Given the description of an element on the screen output the (x, y) to click on. 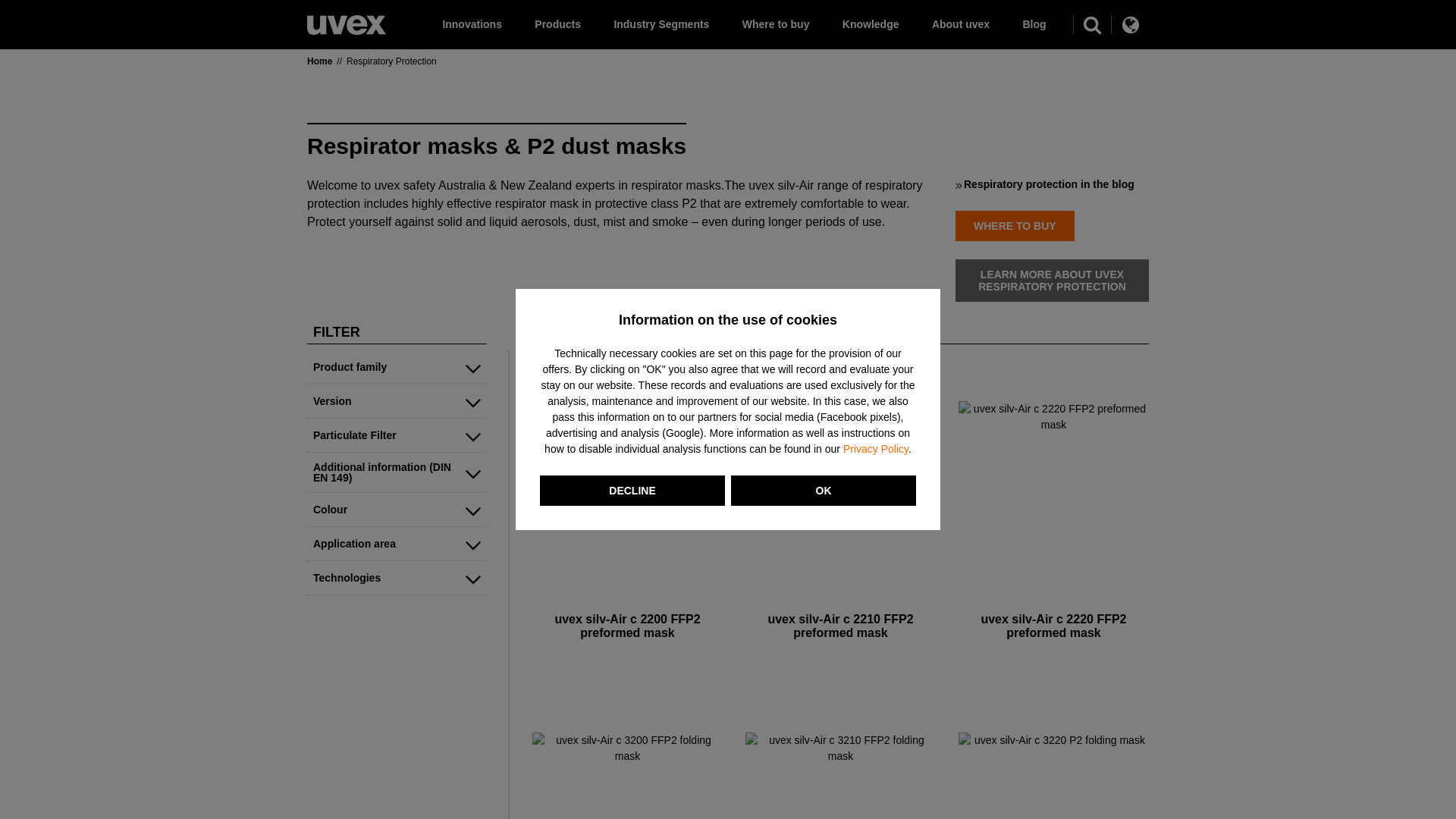
uvex safety (346, 25)
Toggle search (1091, 24)
Show language menu (1129, 24)
